Given the description of an element on the screen output the (x, y) to click on. 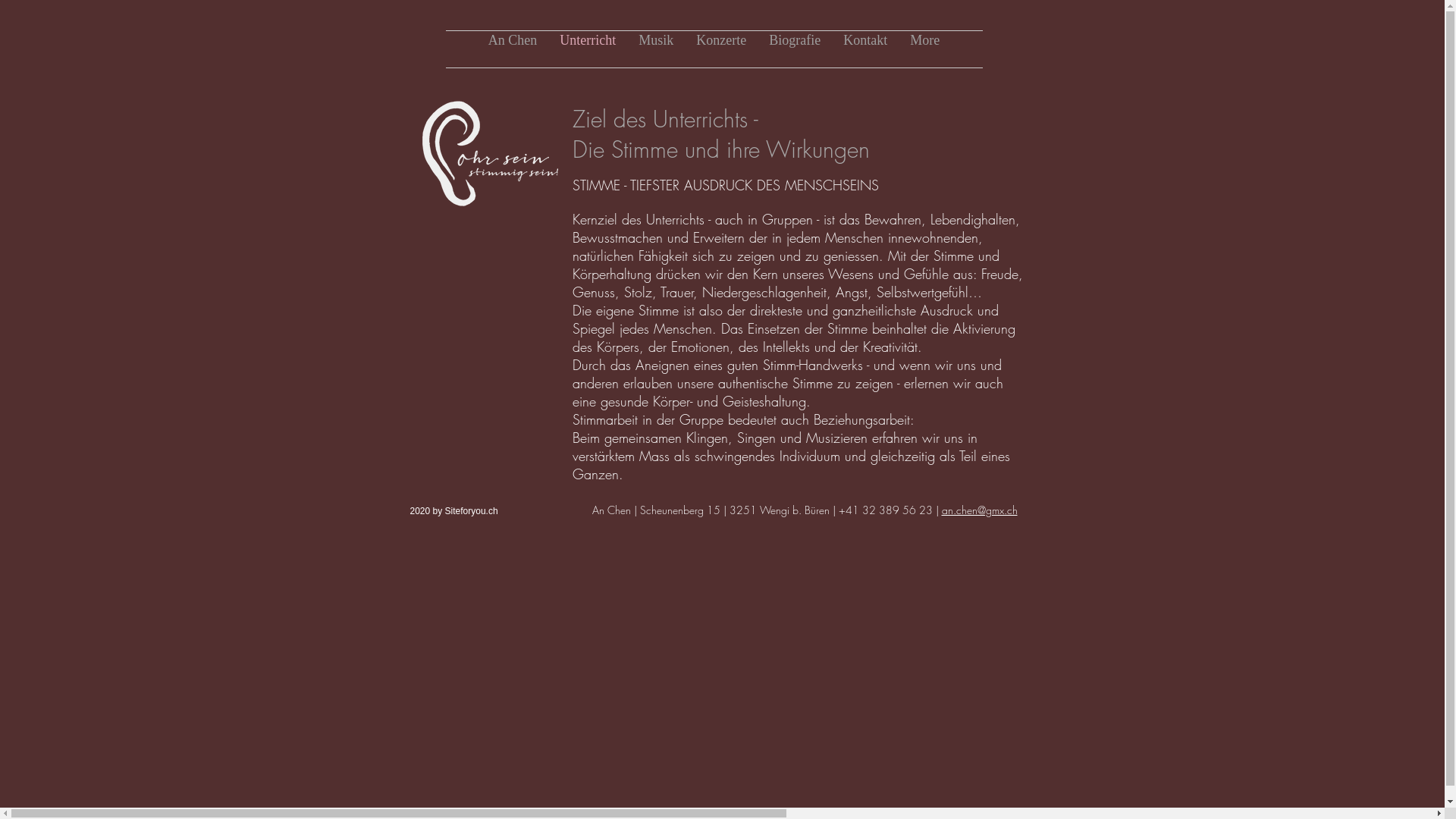
Biografie Element type: text (794, 49)
Unterricht Element type: text (587, 49)
Kontakt Element type: text (864, 49)
an.chen@gmx.ch Element type: text (979, 509)
An Chen Element type: text (512, 49)
Konzerte Element type: text (720, 49)
Musik Element type: text (655, 49)
